Given the description of an element on the screen output the (x, y) to click on. 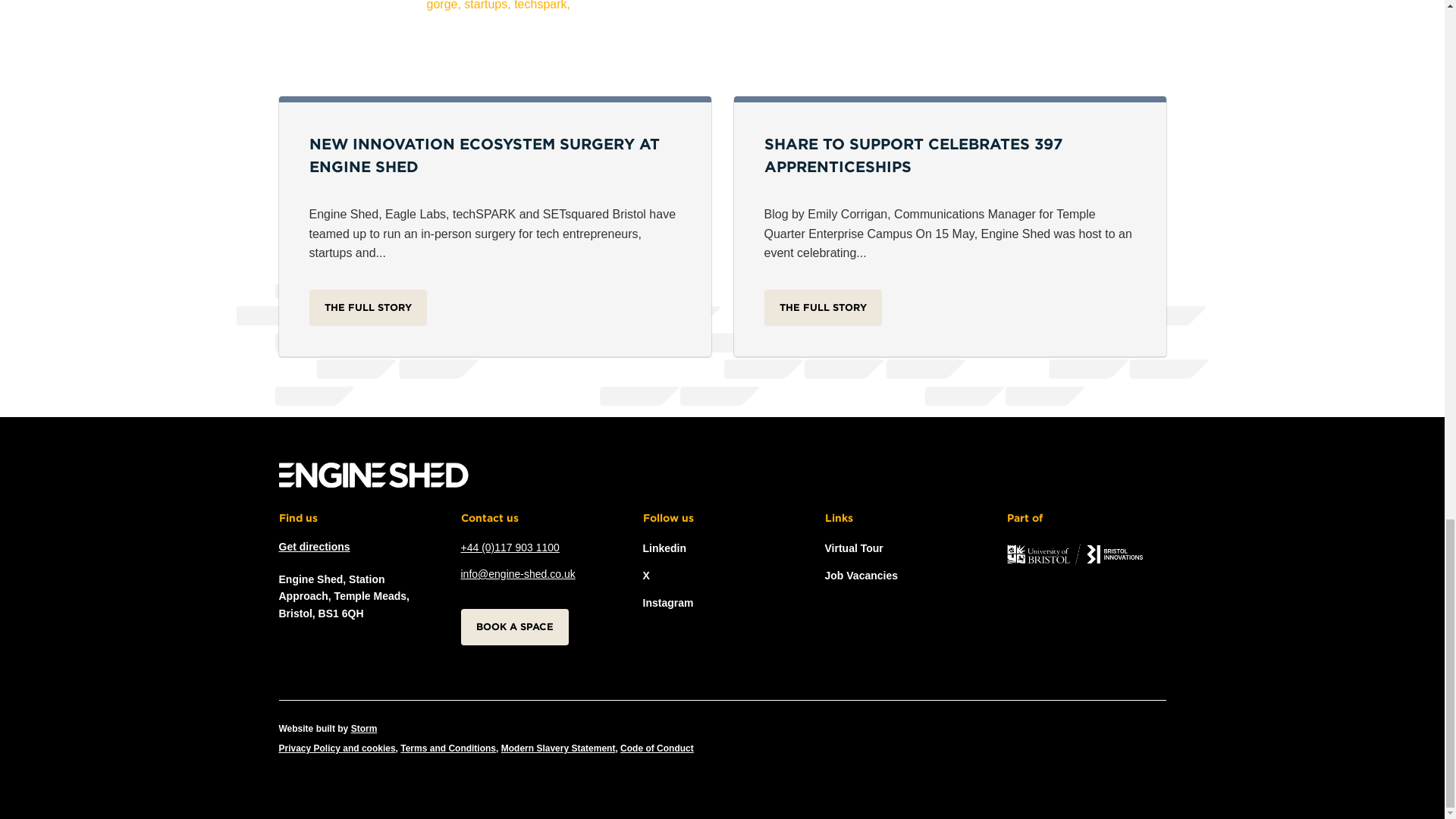
silicon gorge, (706, 5)
